Given the description of an element on the screen output the (x, y) to click on. 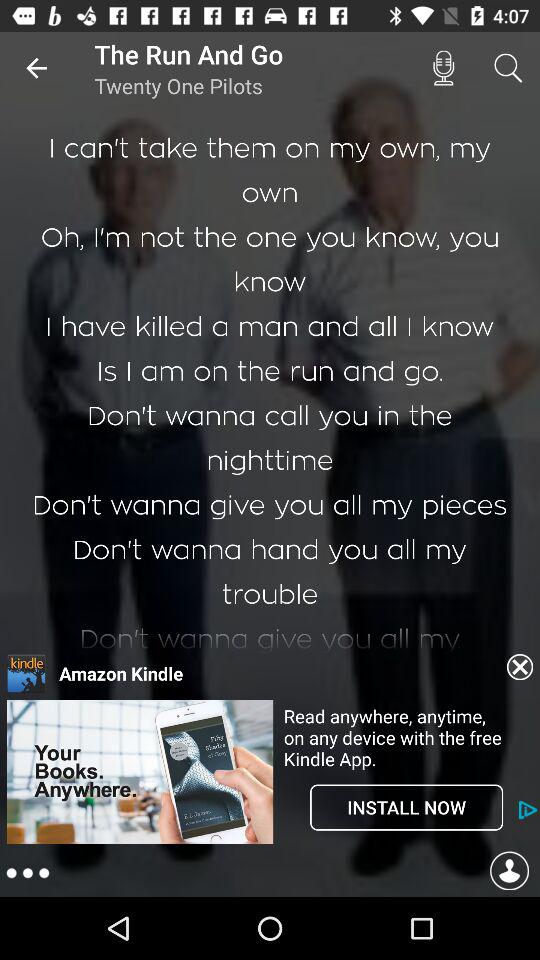
exit advertisement (520, 667)
